Given the description of an element on the screen output the (x, y) to click on. 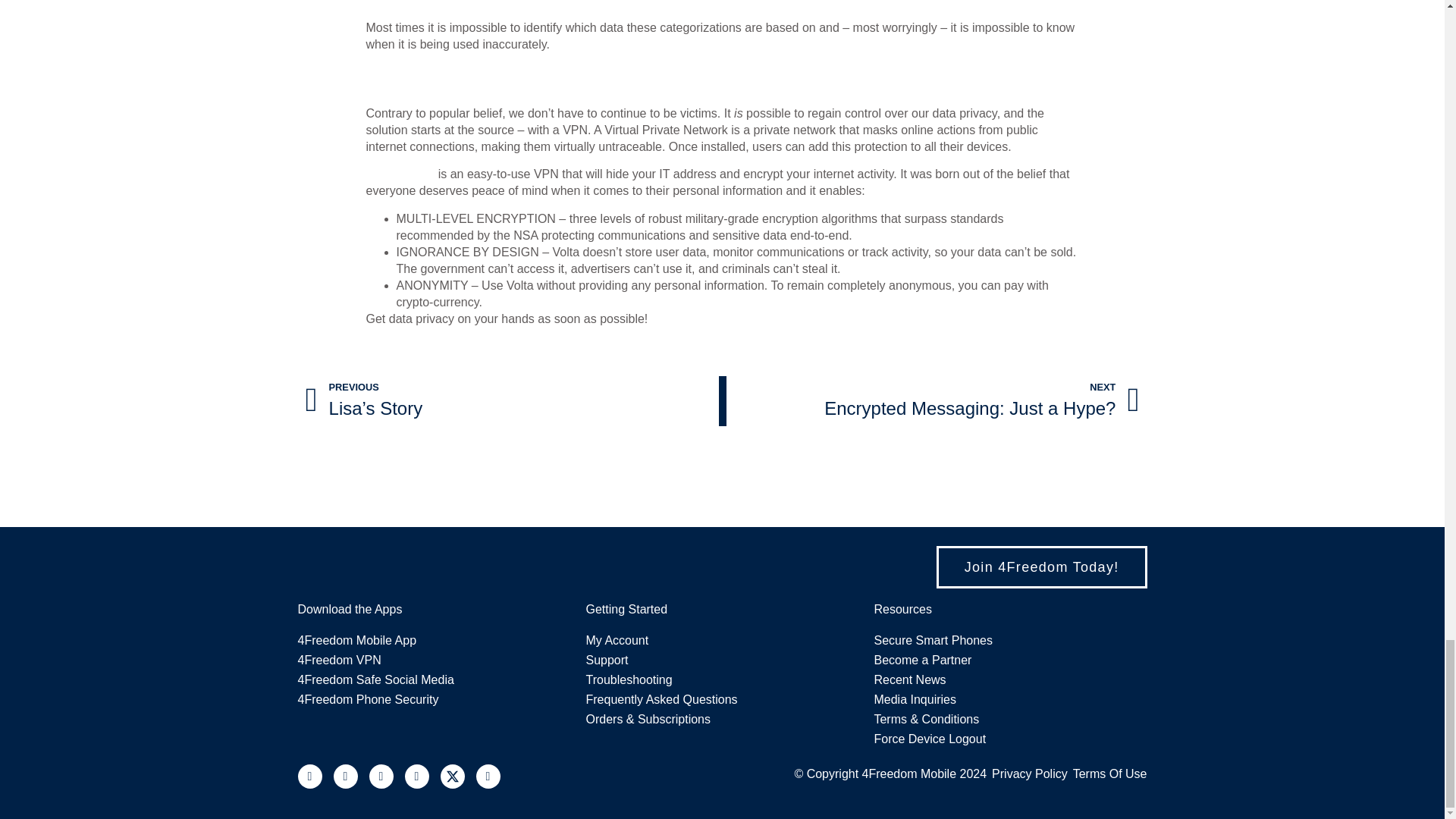
4Freedom Mobile App (433, 640)
Volta Protect (399, 173)
Secure Smart Phones (1010, 640)
Recent News (1010, 680)
Become a Partner (1010, 660)
Troubleshooting (933, 400)
Support (722, 680)
4Freedom VPN (722, 660)
Media Inquiries (433, 660)
